Given the description of an element on the screen output the (x, y) to click on. 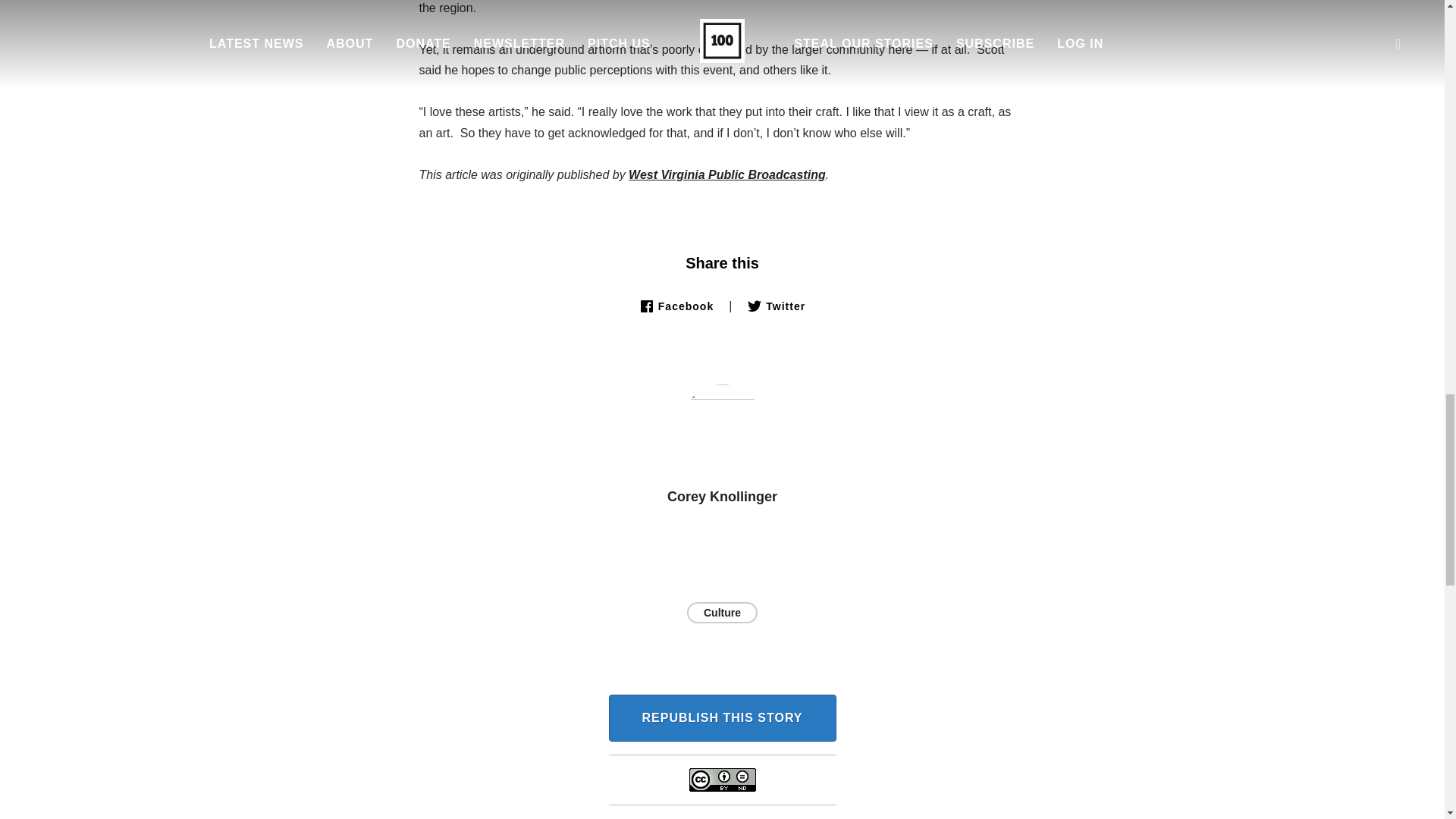
Posts by Corey Knollinger (721, 496)
Corey Knollinger (721, 496)
Culture (722, 612)
Facebook (676, 305)
REPUBLISH THIS STORY (721, 717)
Share this on Facebook (676, 305)
West Virginia Public Broadcasting (726, 174)
Tweet this on Twitter (775, 305)
Twitter (775, 305)
